Given the description of an element on the screen output the (x, y) to click on. 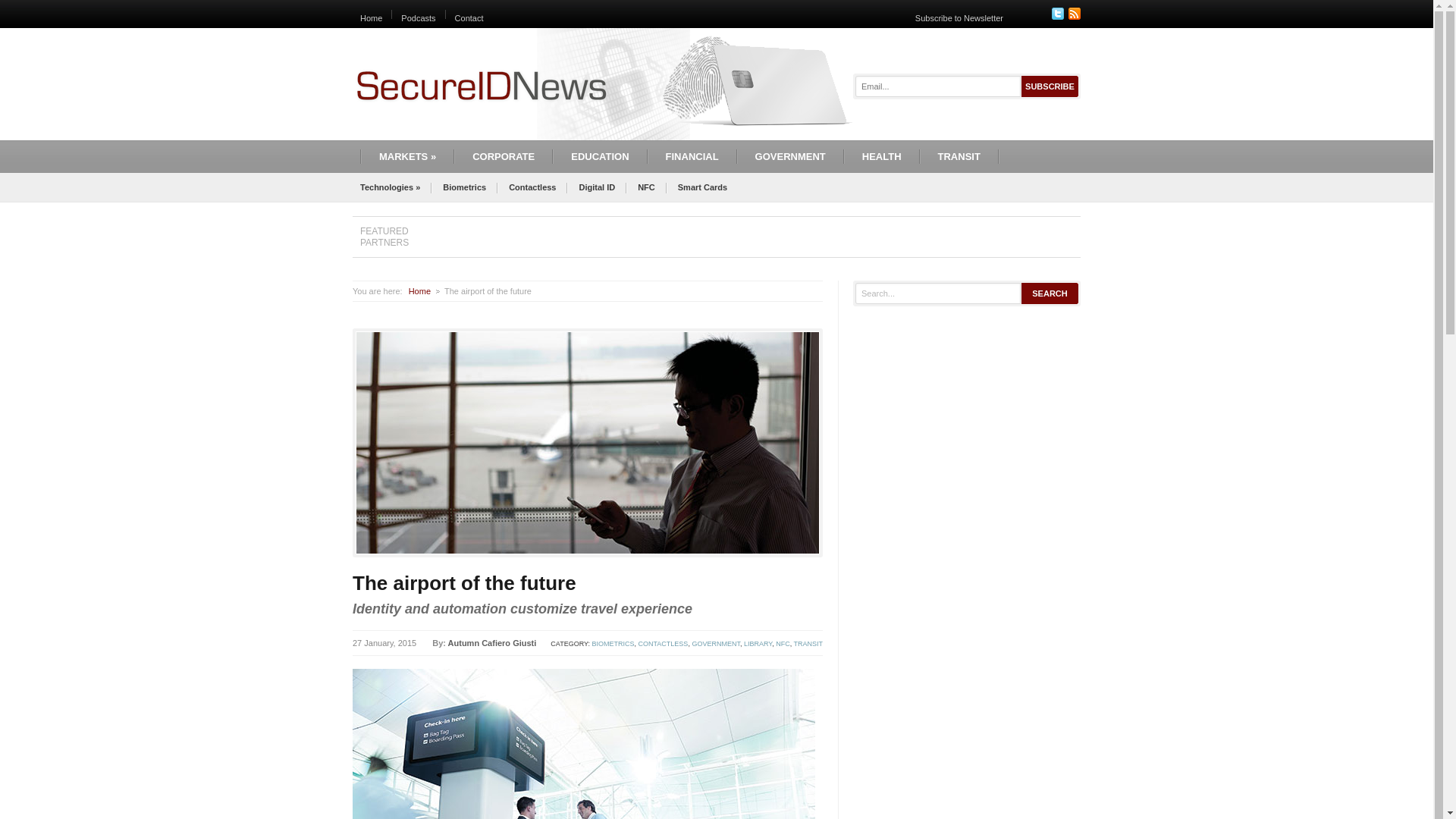
GOVERNMENT (790, 156)
Biometrics (464, 187)
Home (419, 290)
EDUCATION (599, 156)
Subscribe (1049, 86)
Podcasts (418, 17)
NFC (783, 643)
Subscribe (1049, 86)
TRANSIT (958, 156)
LIBRARY (757, 643)
The airport of the future (464, 582)
Home (370, 17)
Subscribe to Newsletter (959, 17)
GOVERNMENT (715, 643)
Autumn Cafiero Giusti (492, 642)
